Given the description of an element on the screen output the (x, y) to click on. 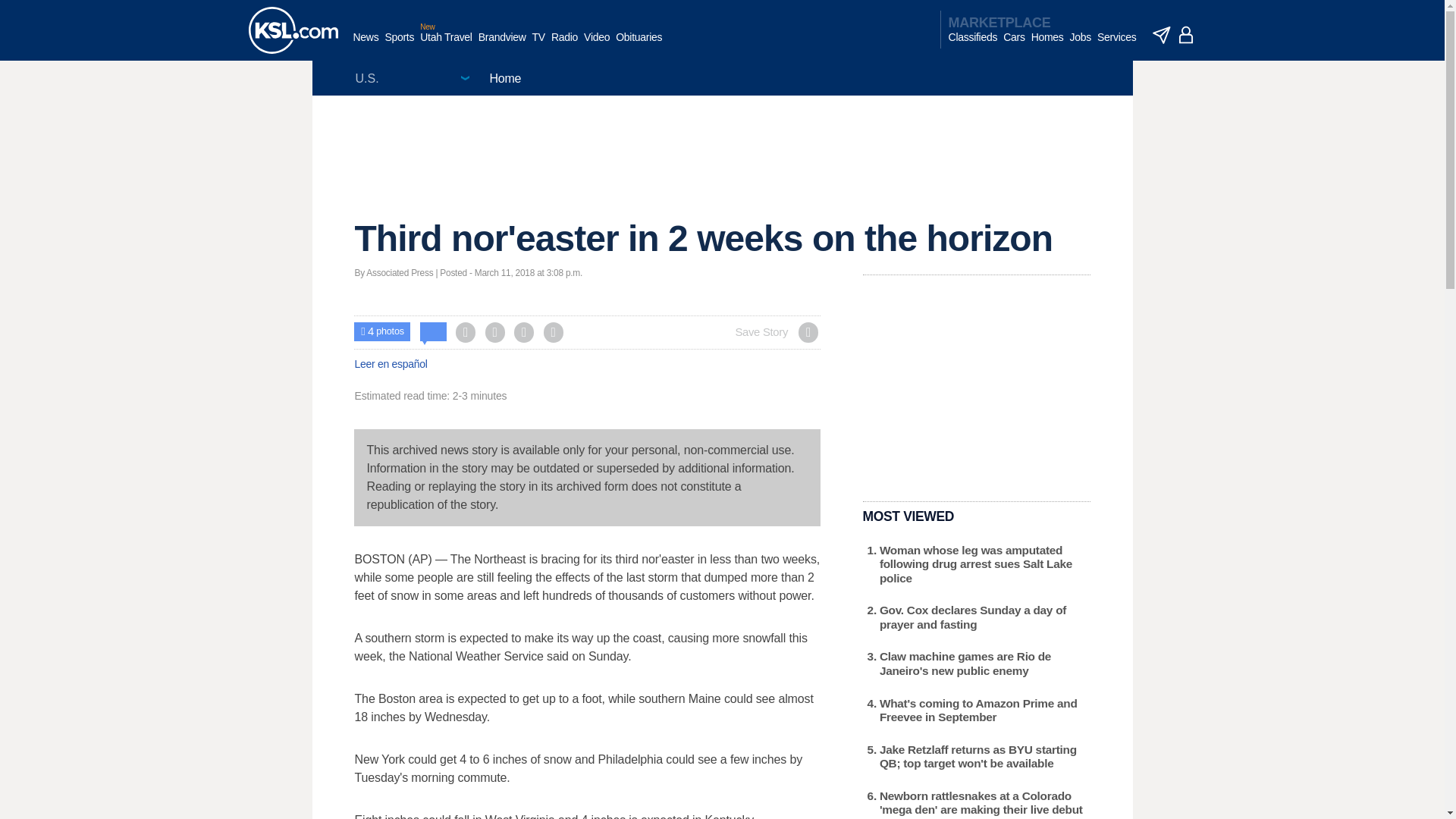
KSL homepage (292, 29)
Sports (398, 45)
account - logged out (1185, 34)
Brandview (502, 45)
KSL homepage (292, 30)
Utah Travel (445, 45)
